Given the description of an element on the screen output the (x, y) to click on. 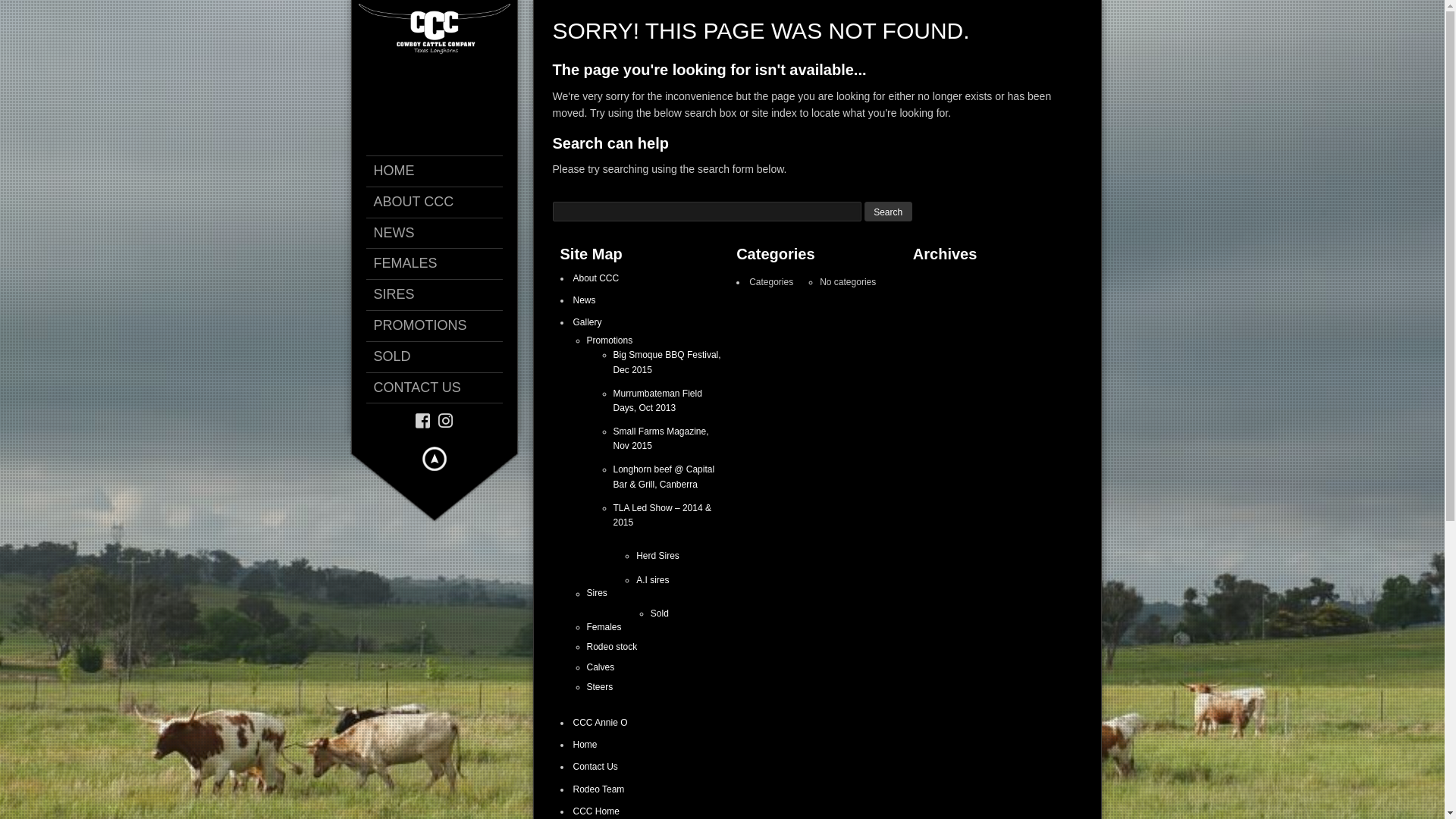
Calves Element type: text (600, 667)
Big Smoque BBQ Festival, Dec 2015 Element type: text (666, 361)
Herd Sires Element type: text (657, 555)
Instagram Element type: hover (445, 420)
Small Farms Magazine, Nov 2015 Element type: text (660, 438)
Sires Element type: text (596, 593)
Facebook Element type: hover (422, 420)
A.I sires Element type: text (652, 579)
SOLD Element type: text (441, 356)
Rodeo stock Element type: text (611, 646)
SIRES Element type: text (441, 294)
About CCC Element type: text (596, 278)
Rodeo Team Element type: text (598, 789)
Sold Element type: text (659, 613)
Steers Element type: text (599, 686)
News Element type: text (584, 299)
NEWS Element type: text (441, 233)
Search Element type: text (888, 211)
HOME Element type: text (441, 170)
Murrumbateman Field Days, Oct 2013 Element type: text (656, 400)
Females Element type: text (603, 626)
Longhorn beef @ Capital Bar & Grill, Canberra Element type: text (663, 476)
Home Element type: text (585, 744)
Contact Us Element type: text (595, 766)
Cowboy Cattle Company Texas Longhorns Element type: hover (433, 27)
CCC Home Element type: text (596, 811)
Gallery Element type: text (587, 321)
FEMALES Element type: text (441, 263)
ABOUT CCC Element type: text (441, 202)
Promotions Element type: text (609, 340)
CONTACT US Element type: text (441, 387)
Hide the navigation Element type: hover (433, 458)
PROMOTIONS Element type: text (441, 325)
CCC Annie O Element type: text (600, 722)
